Given the description of an element on the screen output the (x, y) to click on. 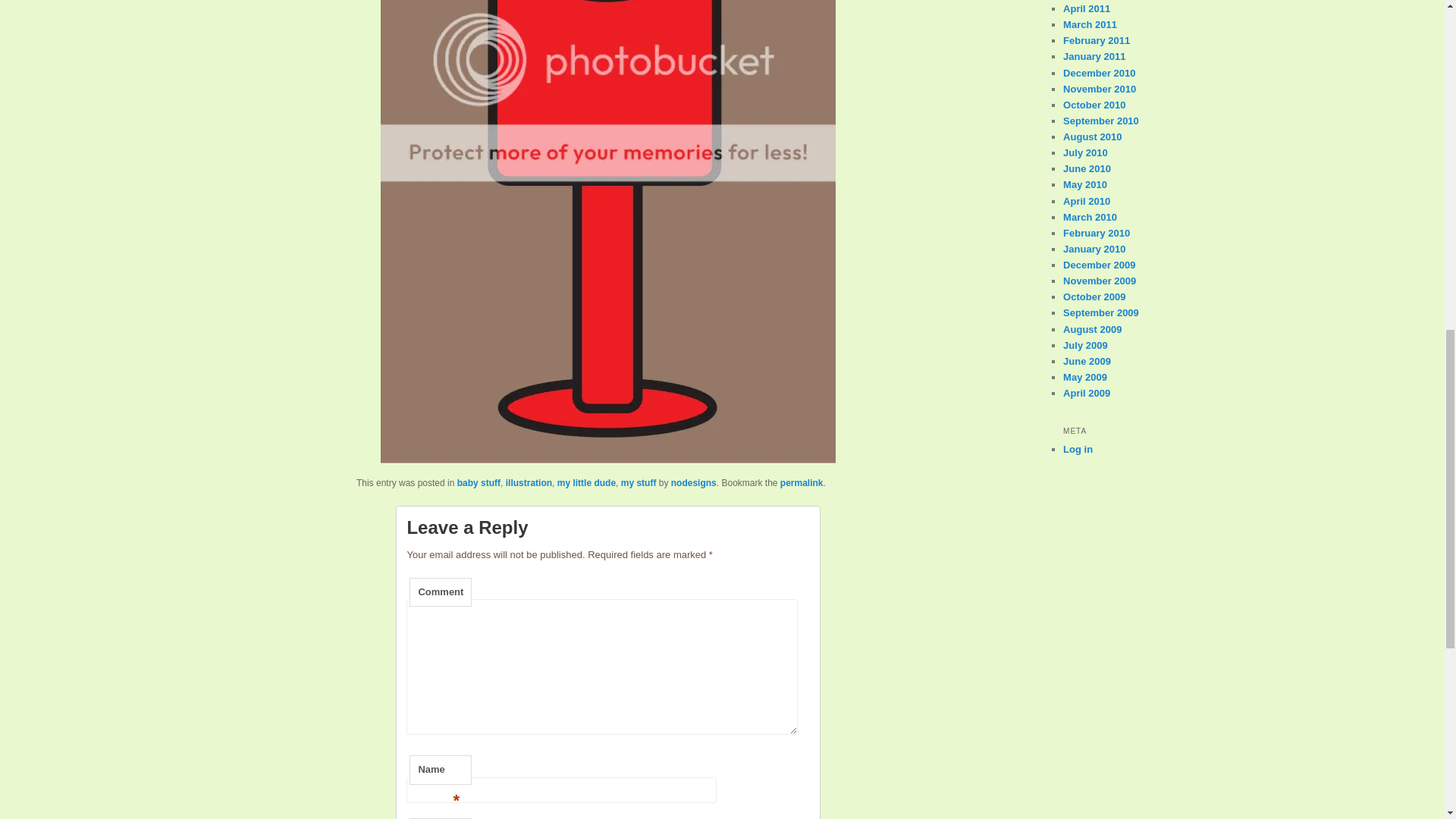
permalink (802, 482)
baby stuff (478, 482)
my stuff (638, 482)
nodesigns (693, 482)
my little dude (586, 482)
illustration (528, 482)
